Given the description of an element on the screen output the (x, y) to click on. 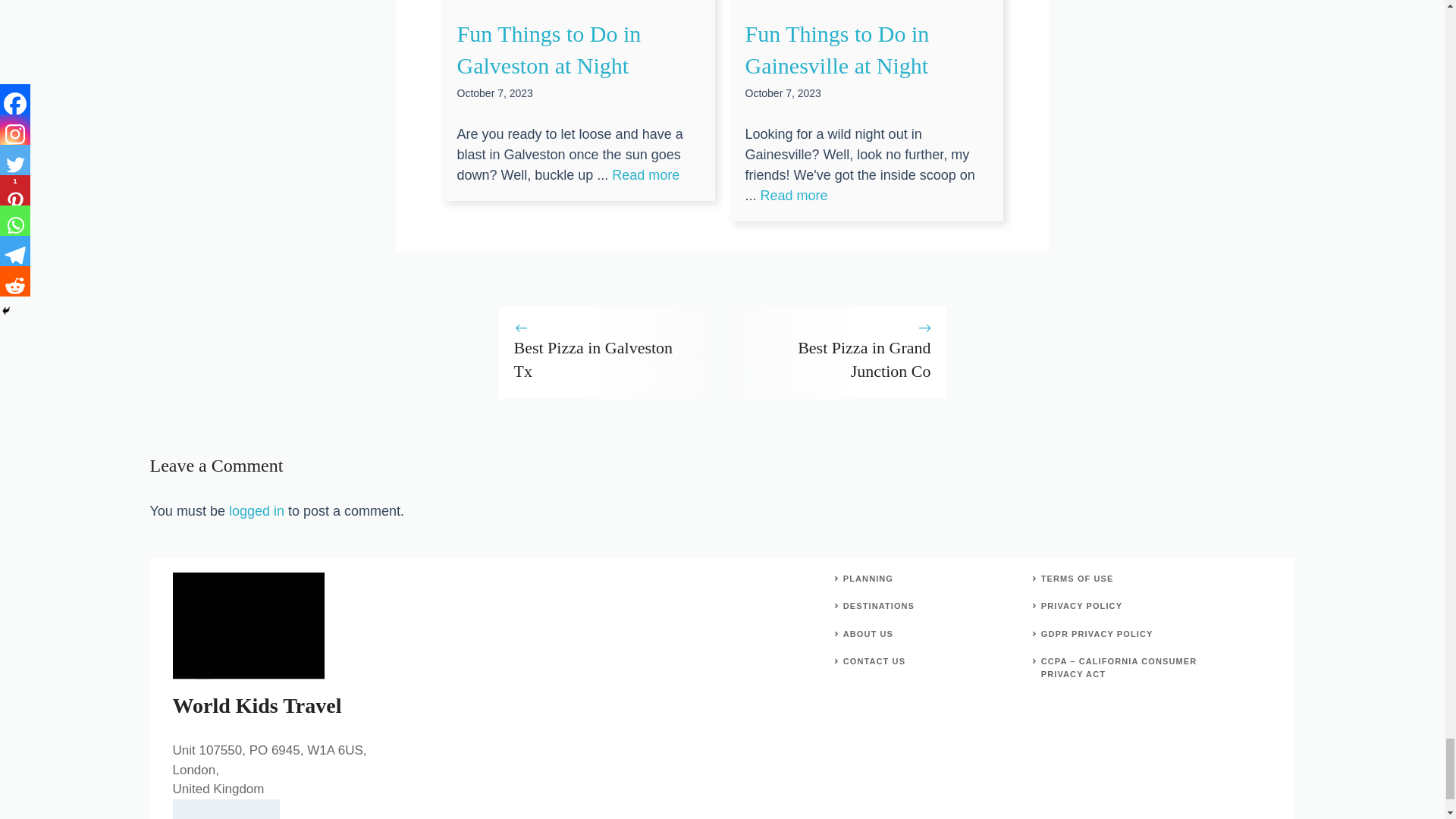
Fun Things to Do in Gainesville at Night (794, 195)
Fun Things to Do in Galveston at Night (645, 174)
